Given the description of an element on the screen output the (x, y) to click on. 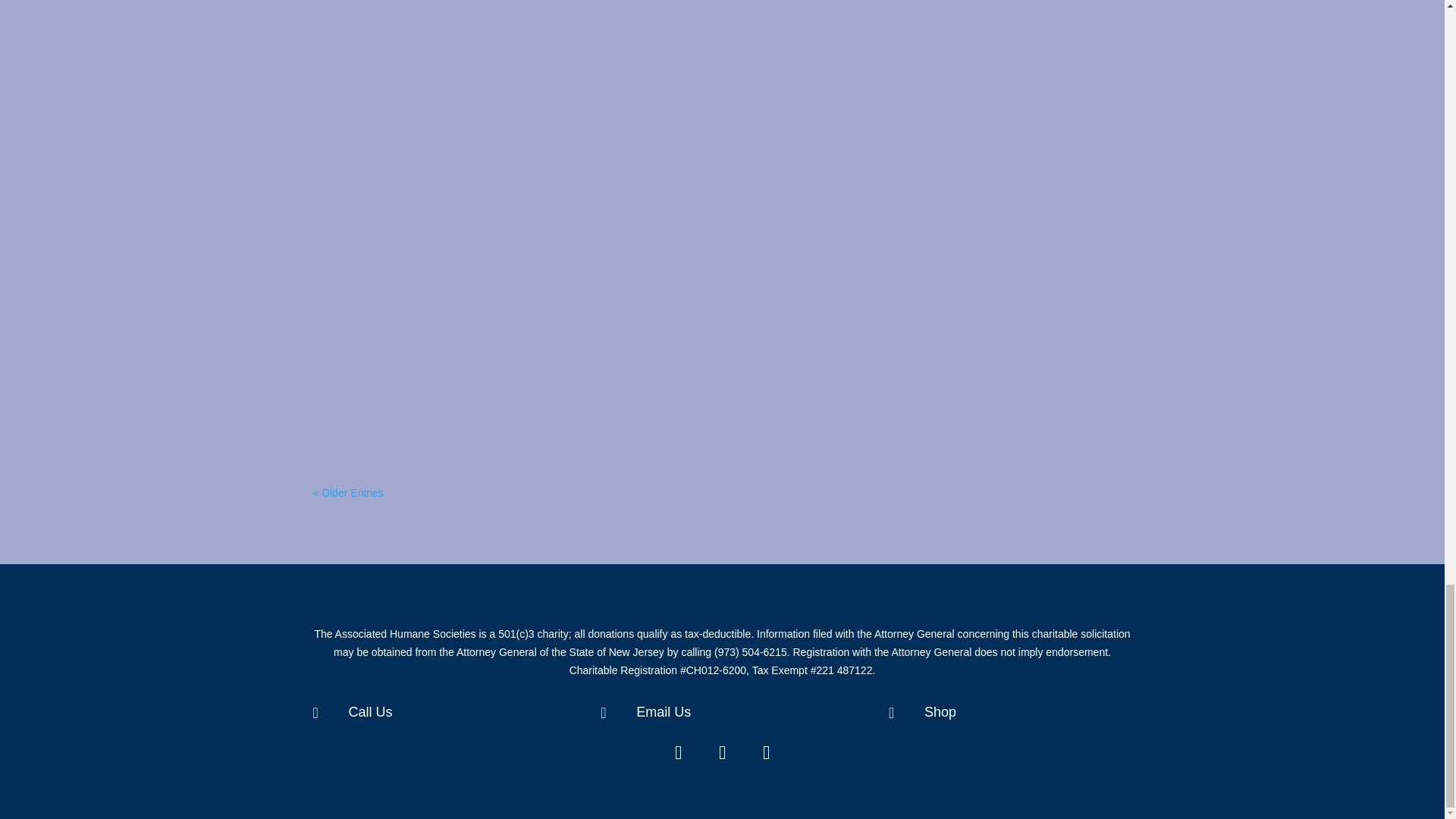
Follow on Instagram (722, 752)
Follow on Facebook (678, 752)
Follow on TikTok (767, 752)
